Given the description of an element on the screen output the (x, y) to click on. 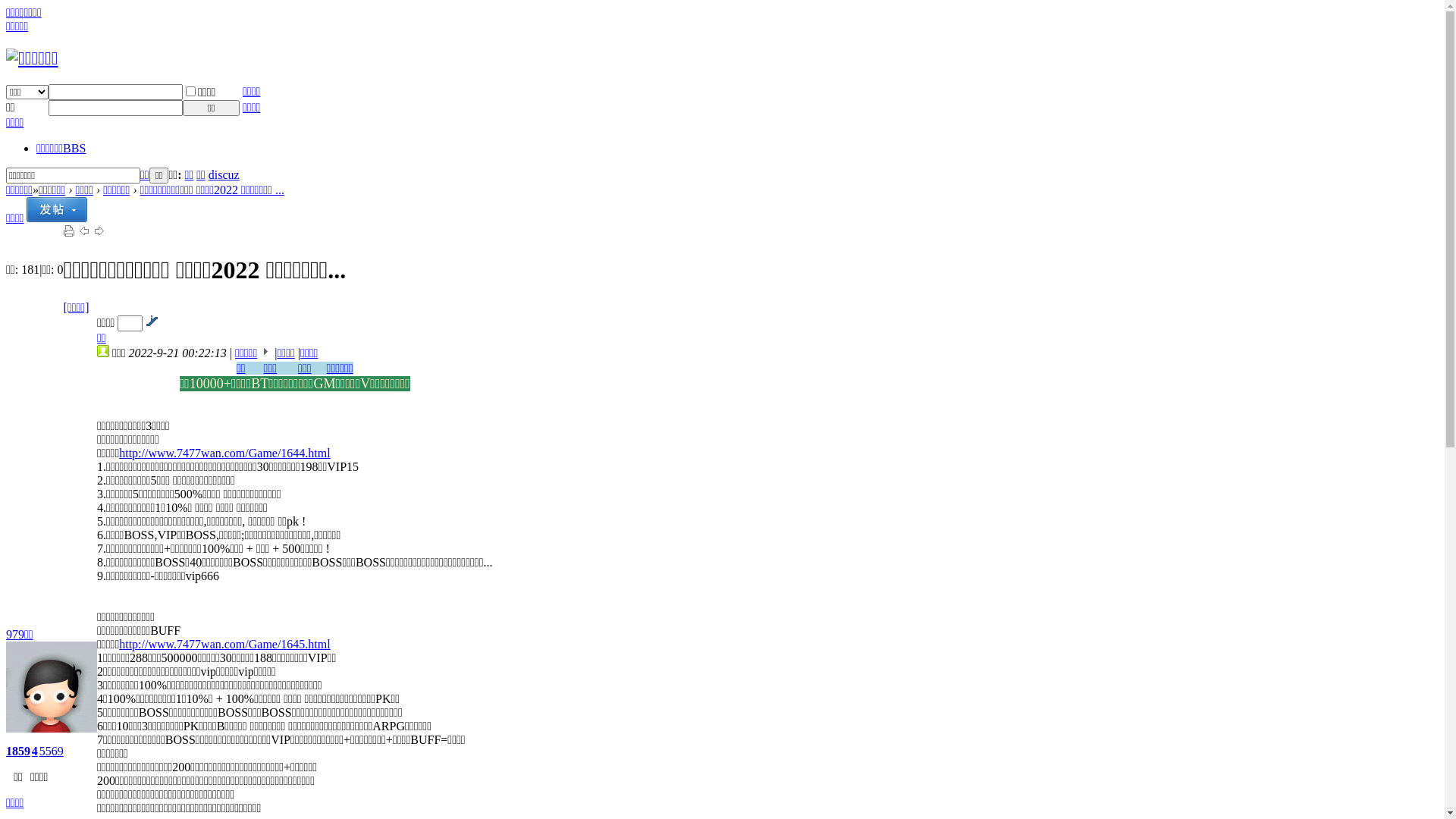
http://www.7477wan.com/Game/1645.html Element type: text (224, 643)
4 Element type: text (34, 750)
1859 Element type: text (18, 750)
5569 Element type: text (51, 750)
http://www.7477wan.com/Game/1644.html Element type: text (224, 452)
discuz Element type: text (223, 174)
